Given the description of an element on the screen output the (x, y) to click on. 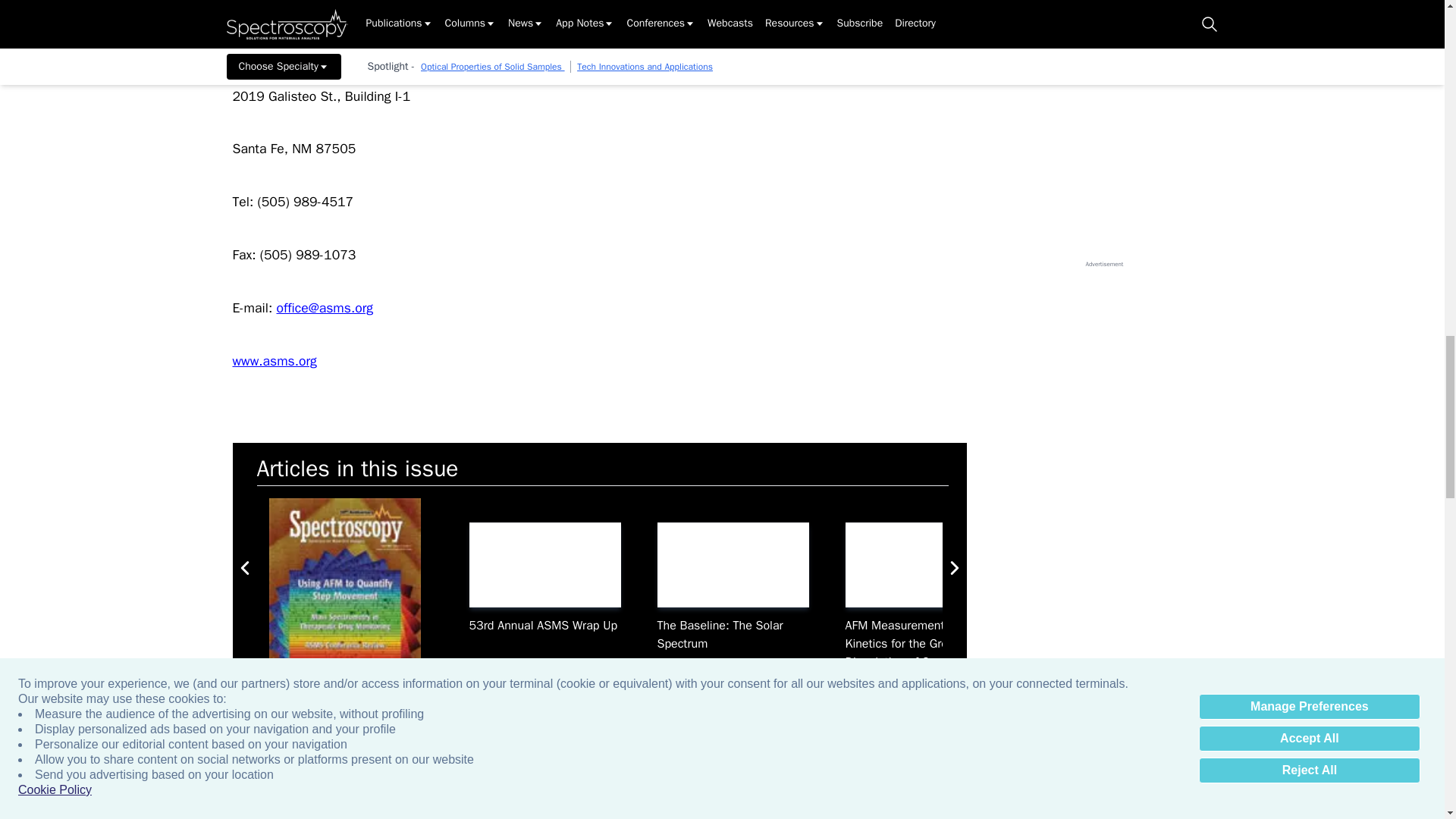
i1-166468-1408697918307.jpg (544, 565)
The Baseline: The Solar Spectrum (732, 565)
